Given the description of an element on the screen output the (x, y) to click on. 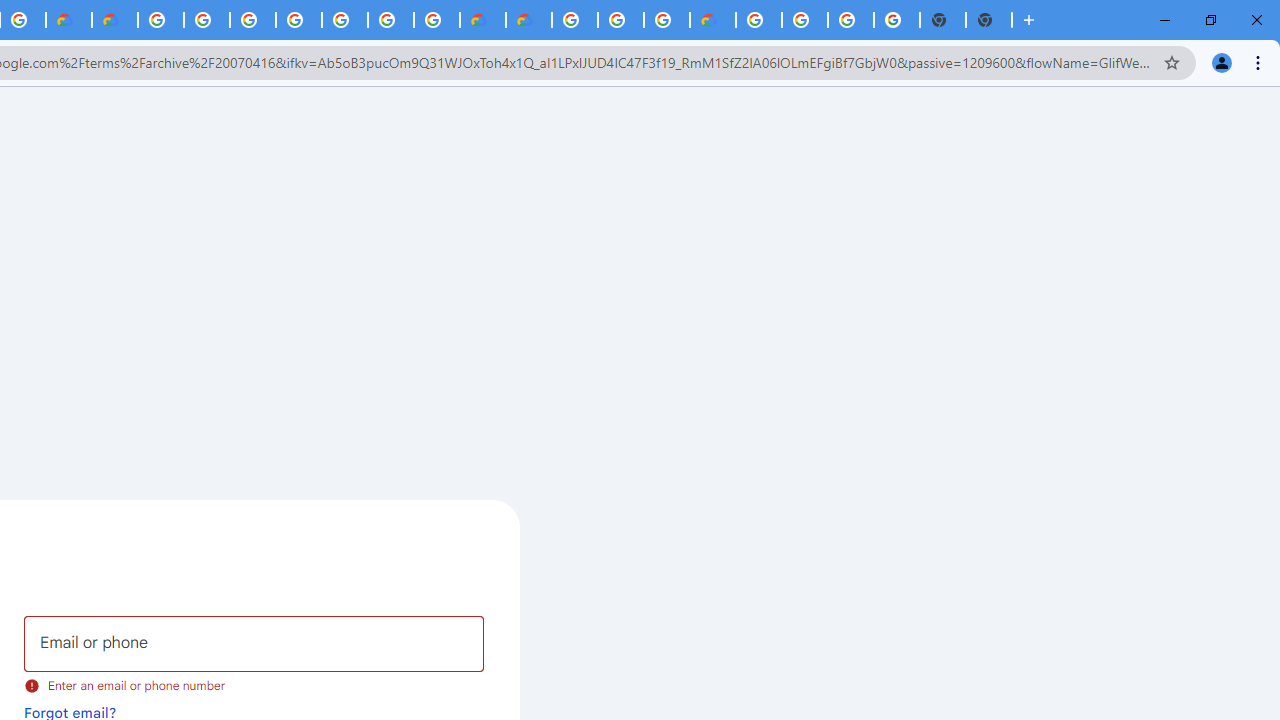
Google Cloud Platform (574, 20)
Google Cloud Service Health (712, 20)
Browse Chrome as a guest - Computer - Google Chrome Help (666, 20)
Google Cloud Platform (759, 20)
Google Cloud Estimate Summary (528, 20)
New Tab (989, 20)
Google Cloud Platform (805, 20)
Browse Chrome as a guest - Computer - Google Chrome Help (620, 20)
